Given the description of an element on the screen output the (x, y) to click on. 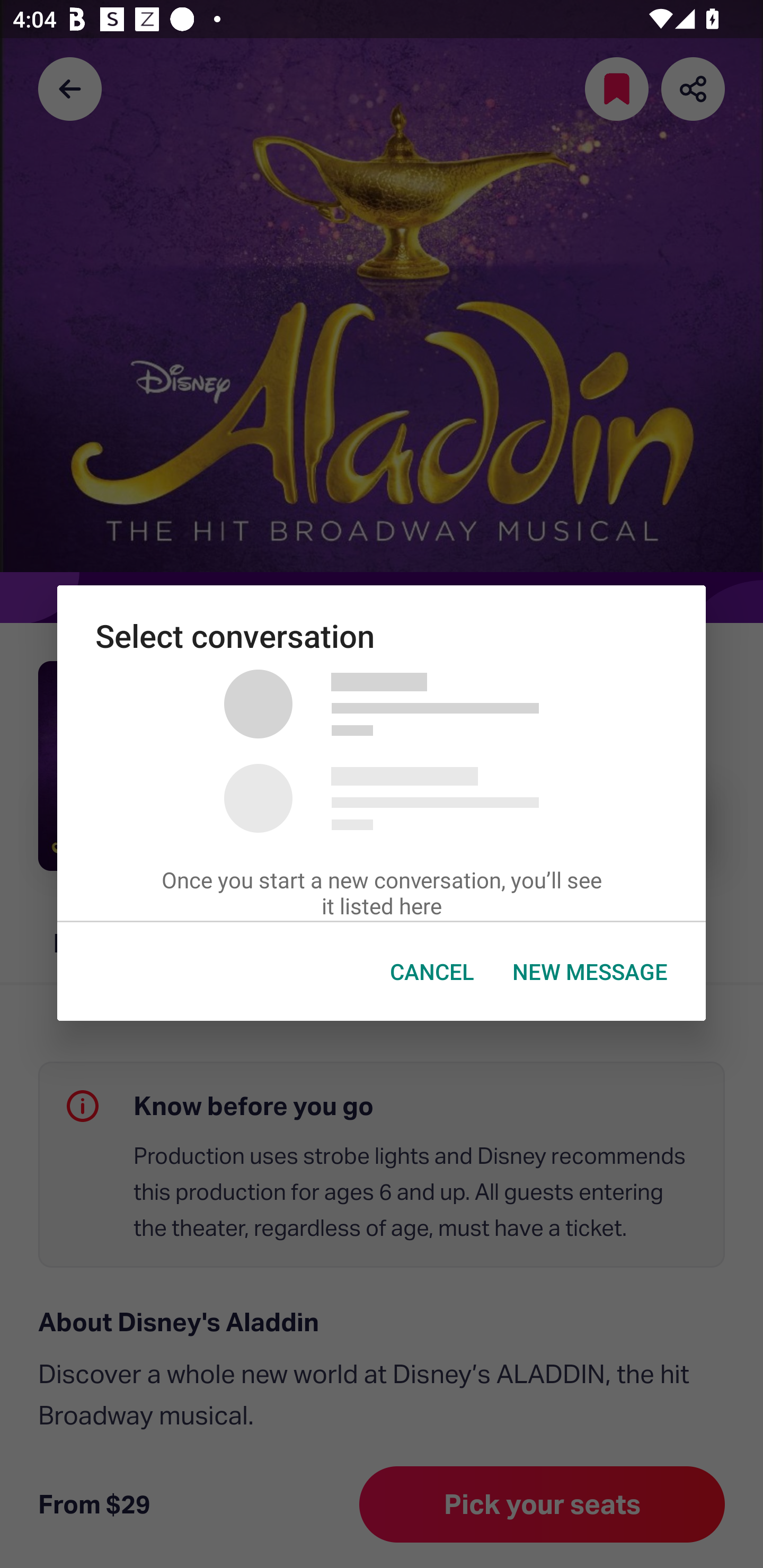
CANCEL (431, 971)
NEW MESSAGE (589, 971)
